Given the description of an element on the screen output the (x, y) to click on. 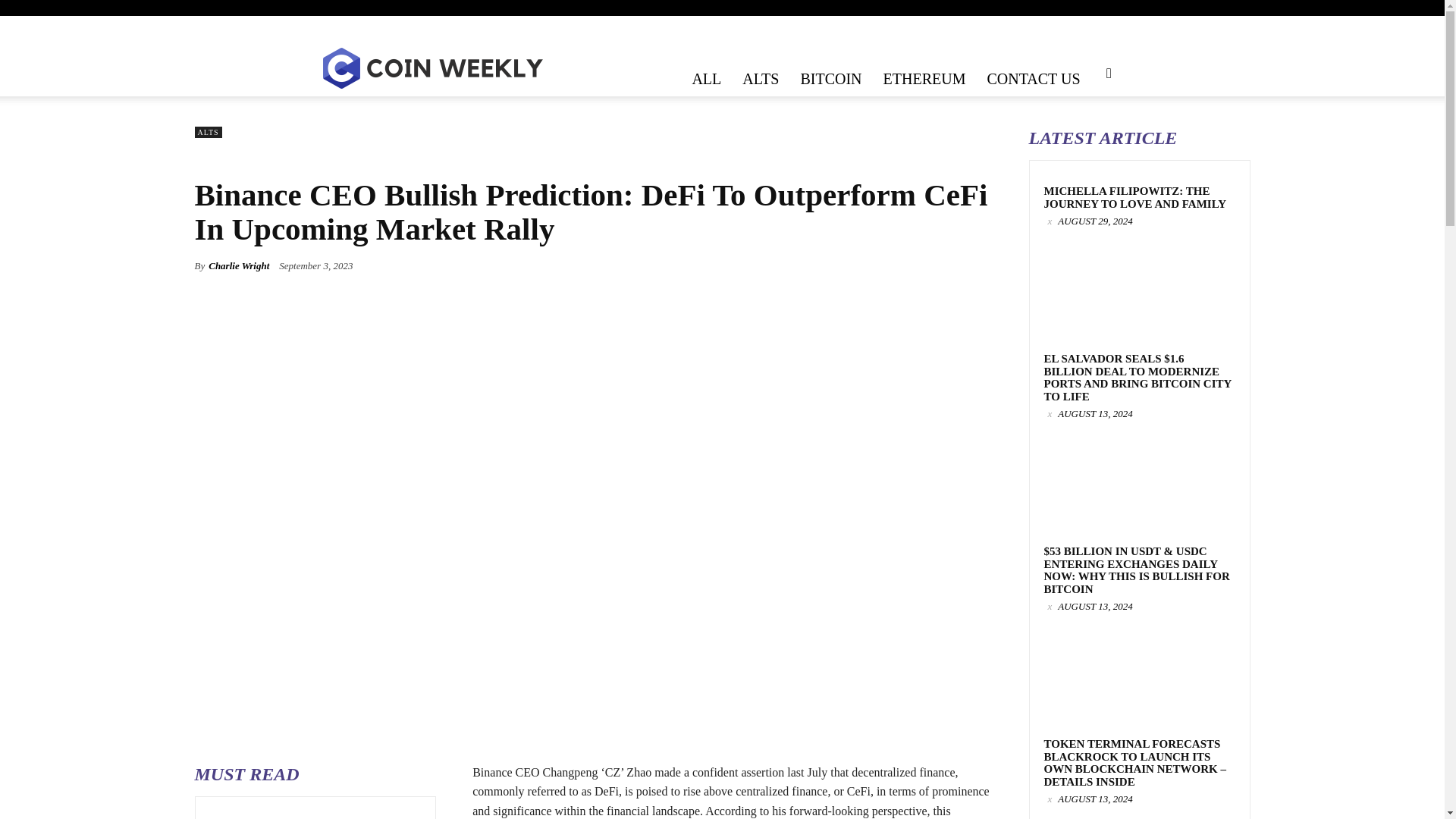
ALTS (760, 78)
Search (1085, 120)
CONTACT US (1032, 78)
BITCOIN (830, 78)
ALTS (207, 132)
Coin Weekly (430, 68)
Charlie Wright (238, 265)
ETHEREUM (924, 78)
